Given the description of an element on the screen output the (x, y) to click on. 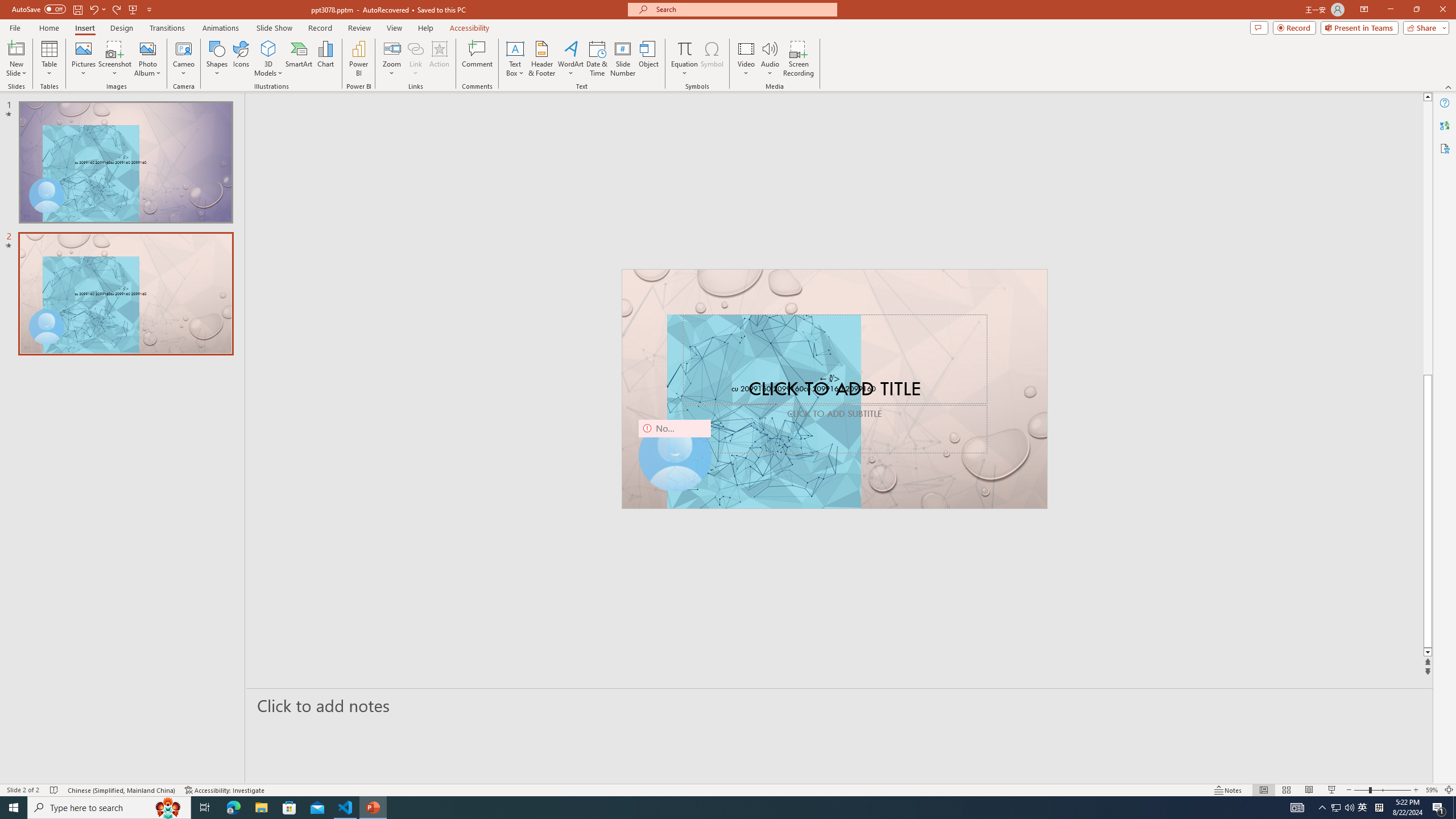
SmartArt... (298, 58)
Header & Footer... (541, 58)
An abstract genetic concept (833, 388)
